Given the description of an element on the screen output the (x, y) to click on. 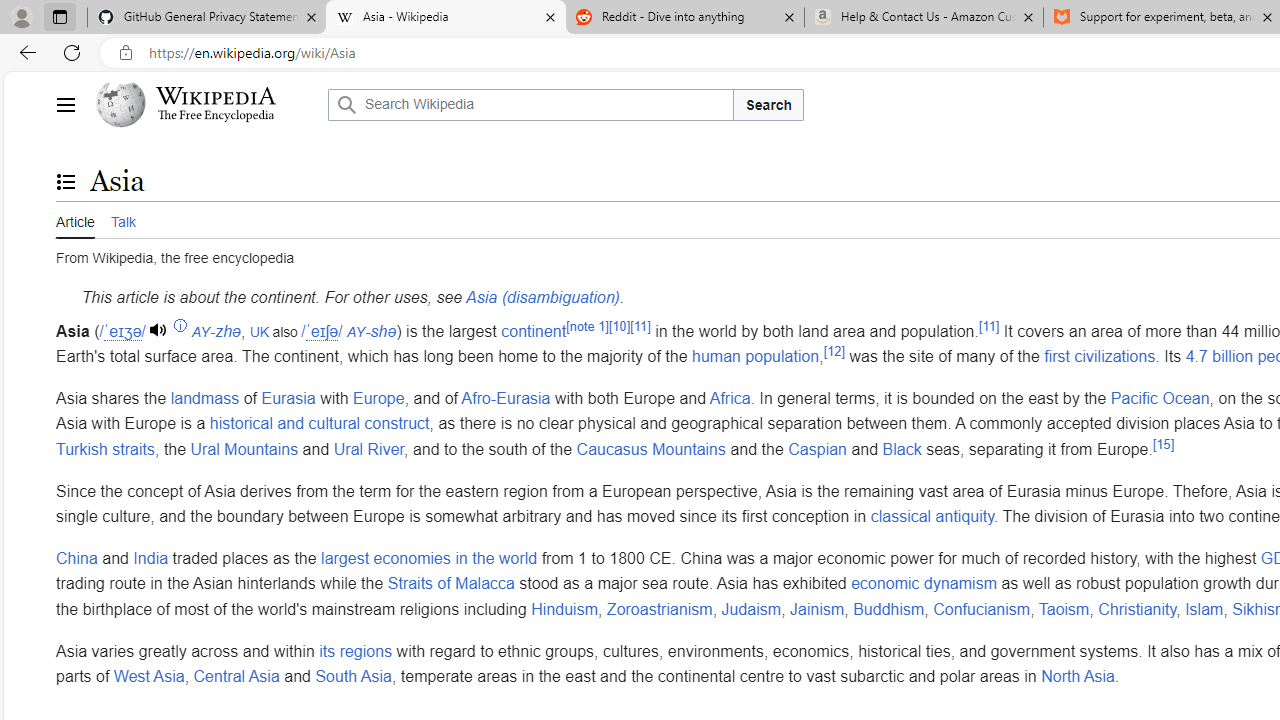
Zoroastrianism (658, 608)
Straits of Malacca (450, 584)
South Asia (352, 677)
Article (75, 219)
[11] (988, 326)
Talk (122, 219)
historical and cultural construct (319, 423)
economic dynamism (924, 584)
Black (901, 448)
Reddit - Dive into anything (684, 17)
first civilizations (1099, 356)
Buddhism (888, 608)
